Given the description of an element on the screen output the (x, y) to click on. 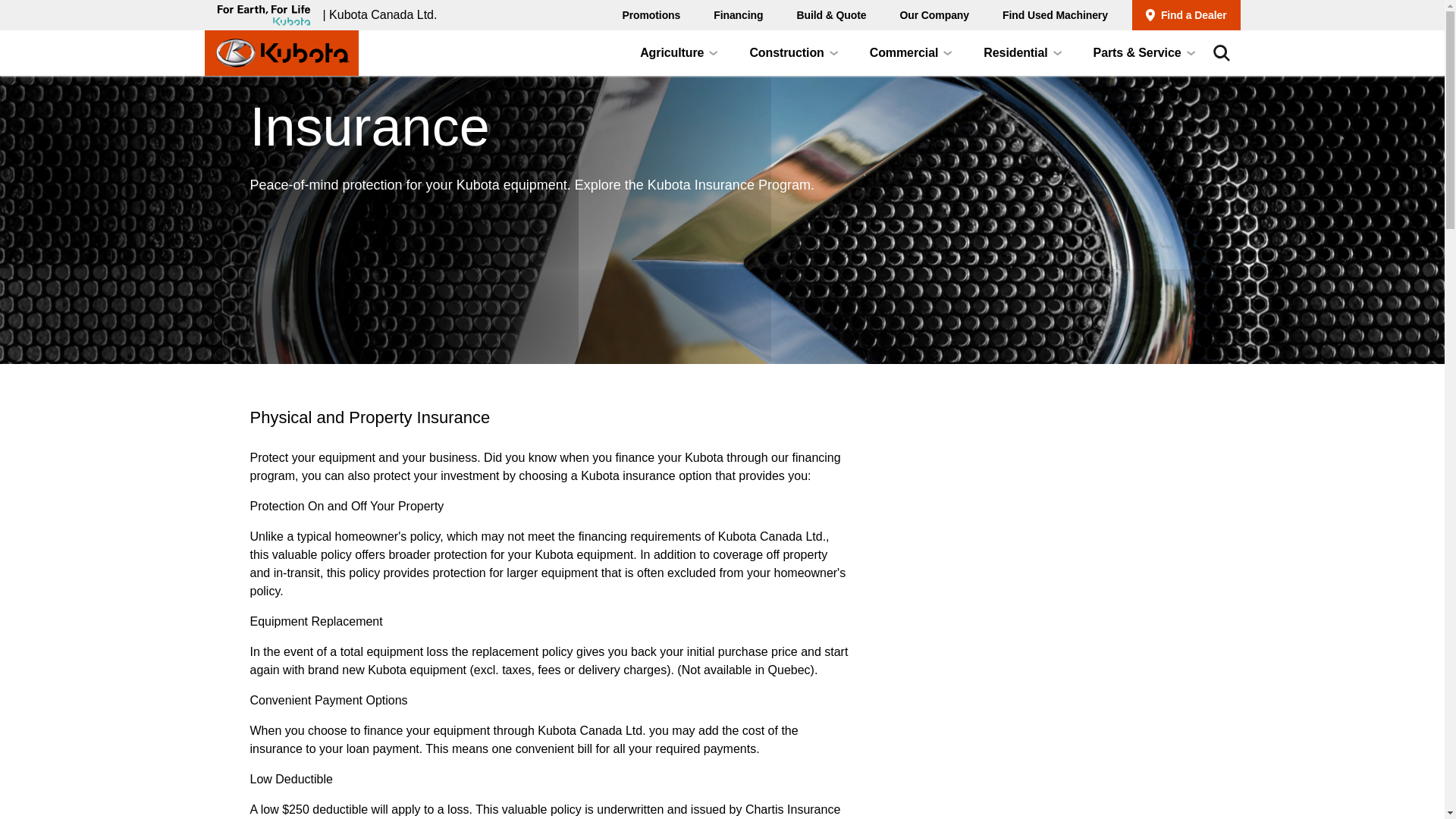
Agriculture (737, 15)
Construction (933, 15)
Residential (678, 53)
Commercial (1055, 15)
